Given the description of an element on the screen output the (x, y) to click on. 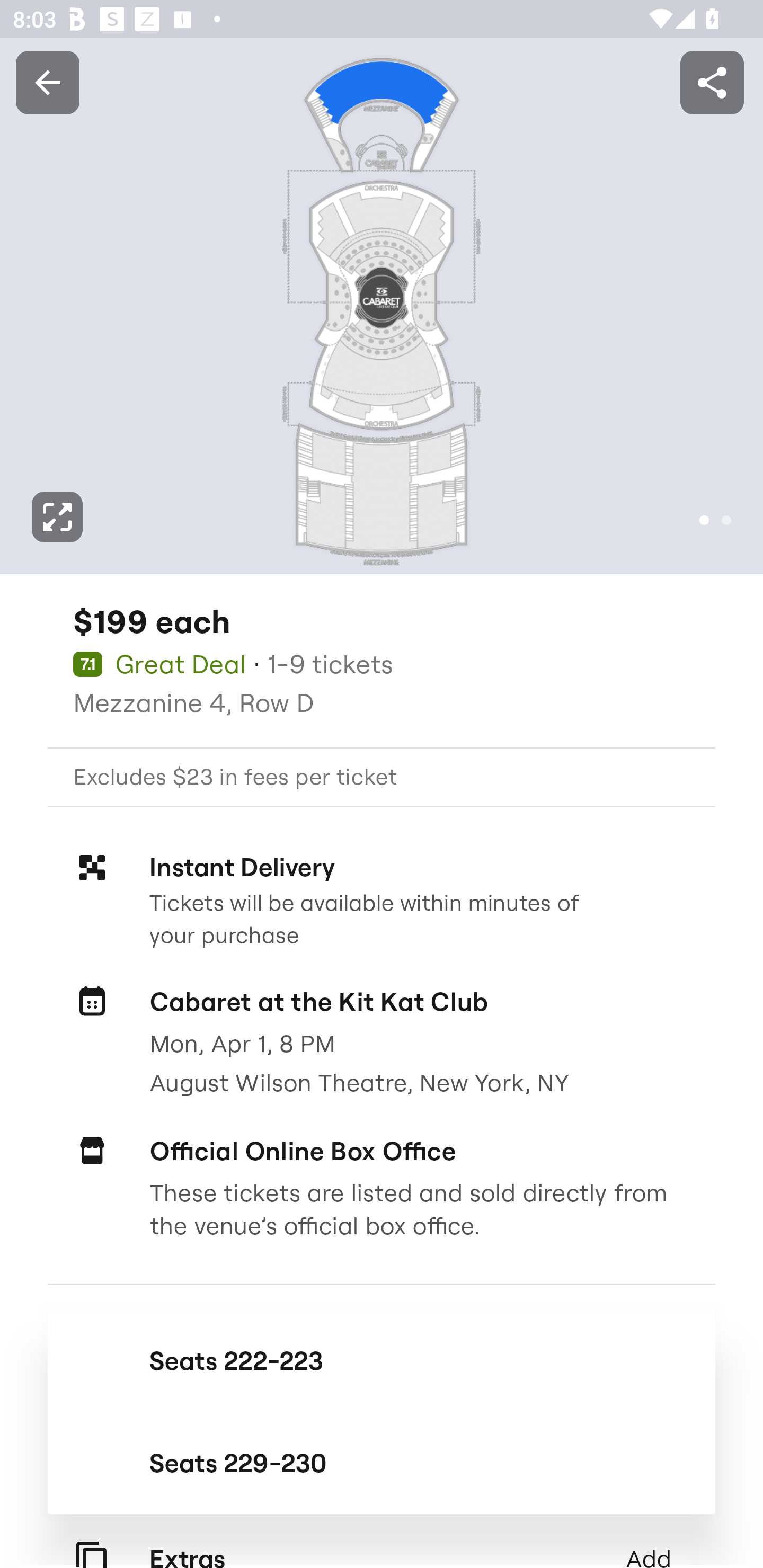
Seats 222-223 (381, 1360)
Seats 229-230 (381, 1463)
